Given the description of an element on the screen output the (x, y) to click on. 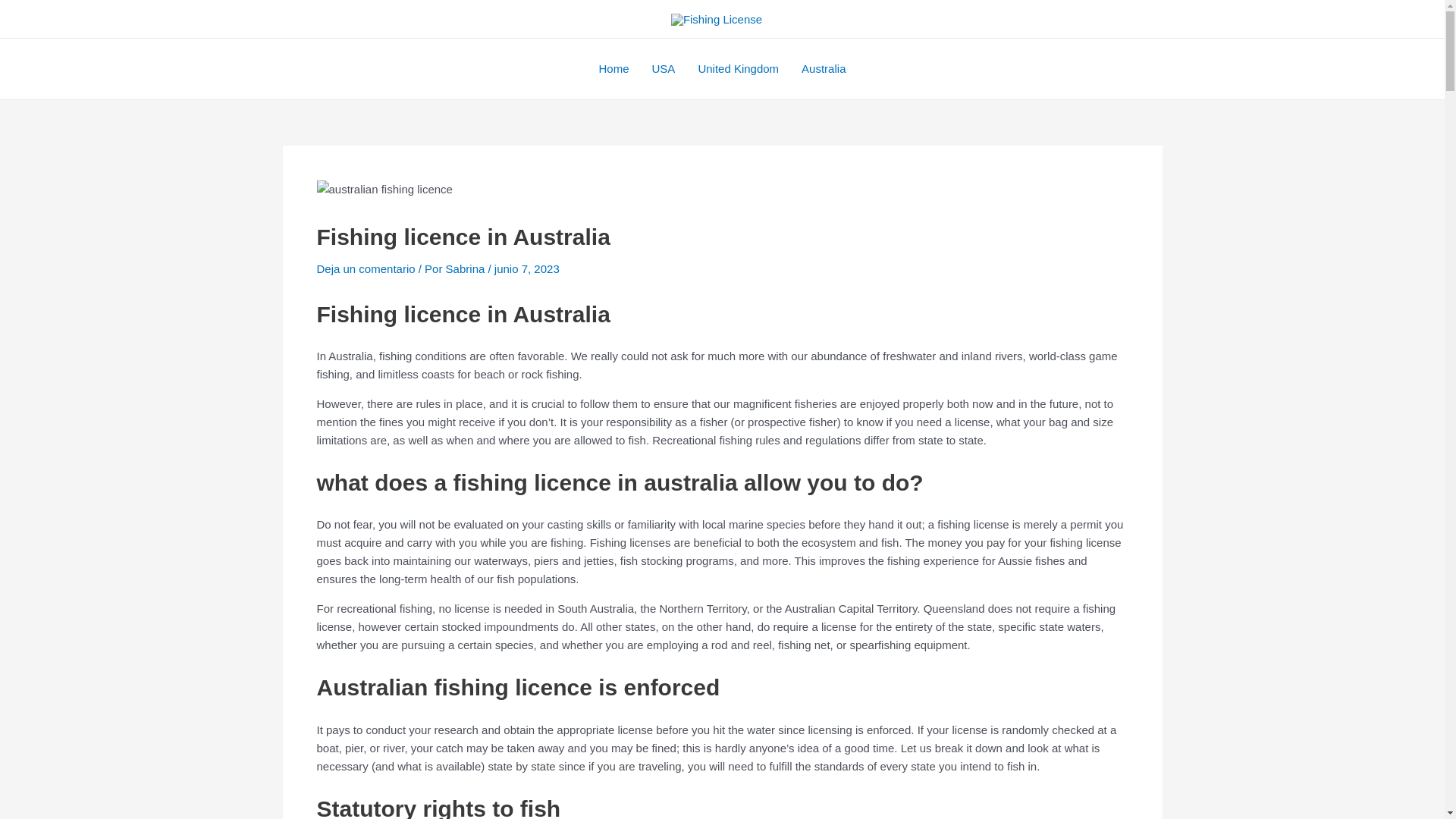
United Kingdom (737, 68)
Australia (823, 68)
Sabrina (466, 268)
Deja un comentario (365, 268)
Ver todas las entradas de Sabrina (466, 268)
